Given the description of an element on the screen output the (x, y) to click on. 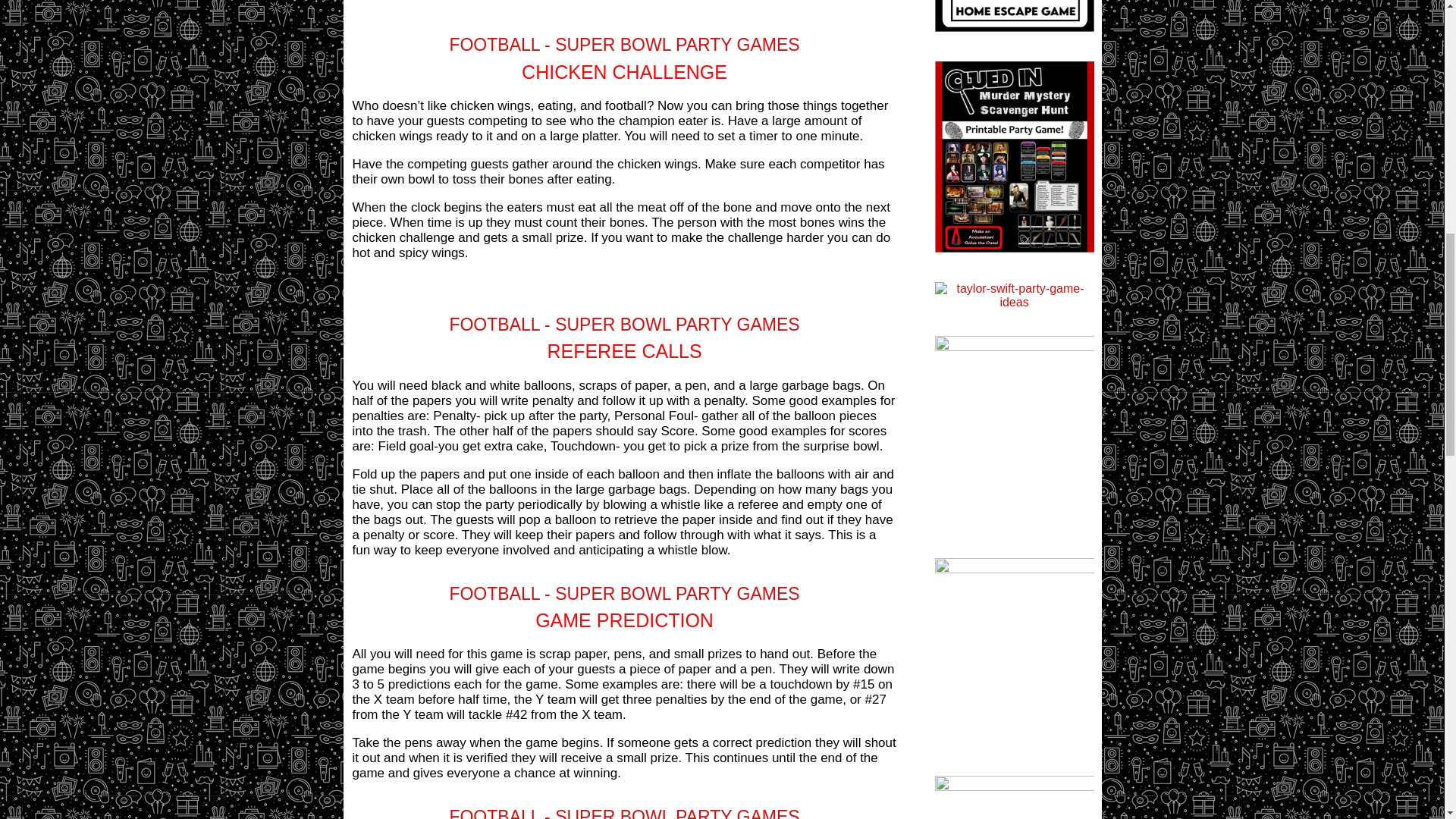
Go to Ciphers, Puzzles, and Codes Treasure Hunt (1013, 568)
Go to DIY Murder Mystery Escape Room - Step by Step Guide (1013, 34)
taylor-swift-party-game-ideas (1013, 295)
